Given the description of an element on the screen output the (x, y) to click on. 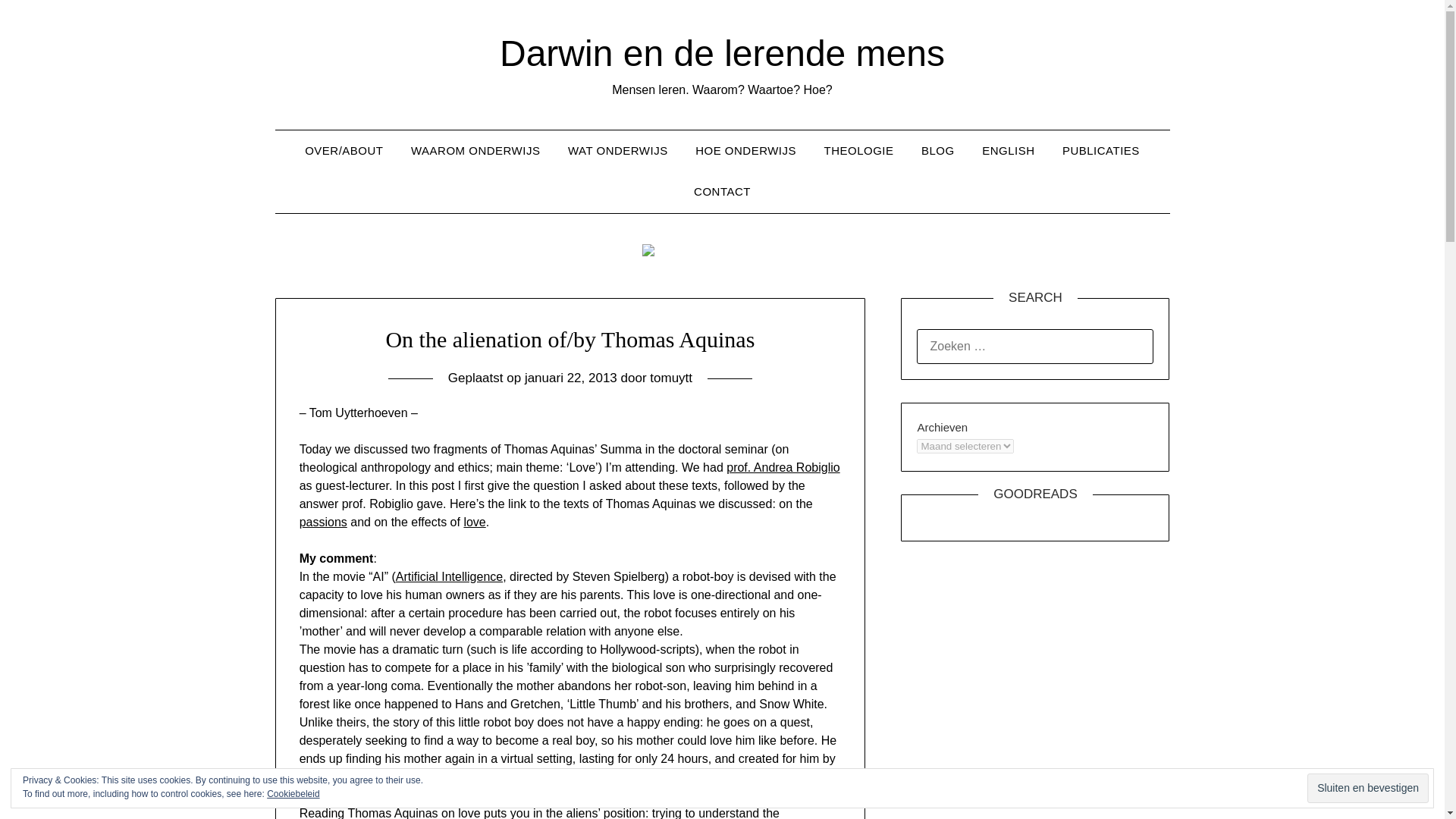
prof. Andrea Robiglio (783, 467)
januari 22, 2013 (570, 377)
tomuytt (671, 377)
ENGLISH (1007, 150)
Darwin en de lerende mens (721, 53)
PUBLICATIES (1100, 150)
Sluiten en bevestigen (1367, 788)
HOE ONDERWIJS (745, 150)
WAT ONDERWIJS (617, 150)
WAAROM ONDERWIJS (475, 150)
